Given the description of an element on the screen output the (x, y) to click on. 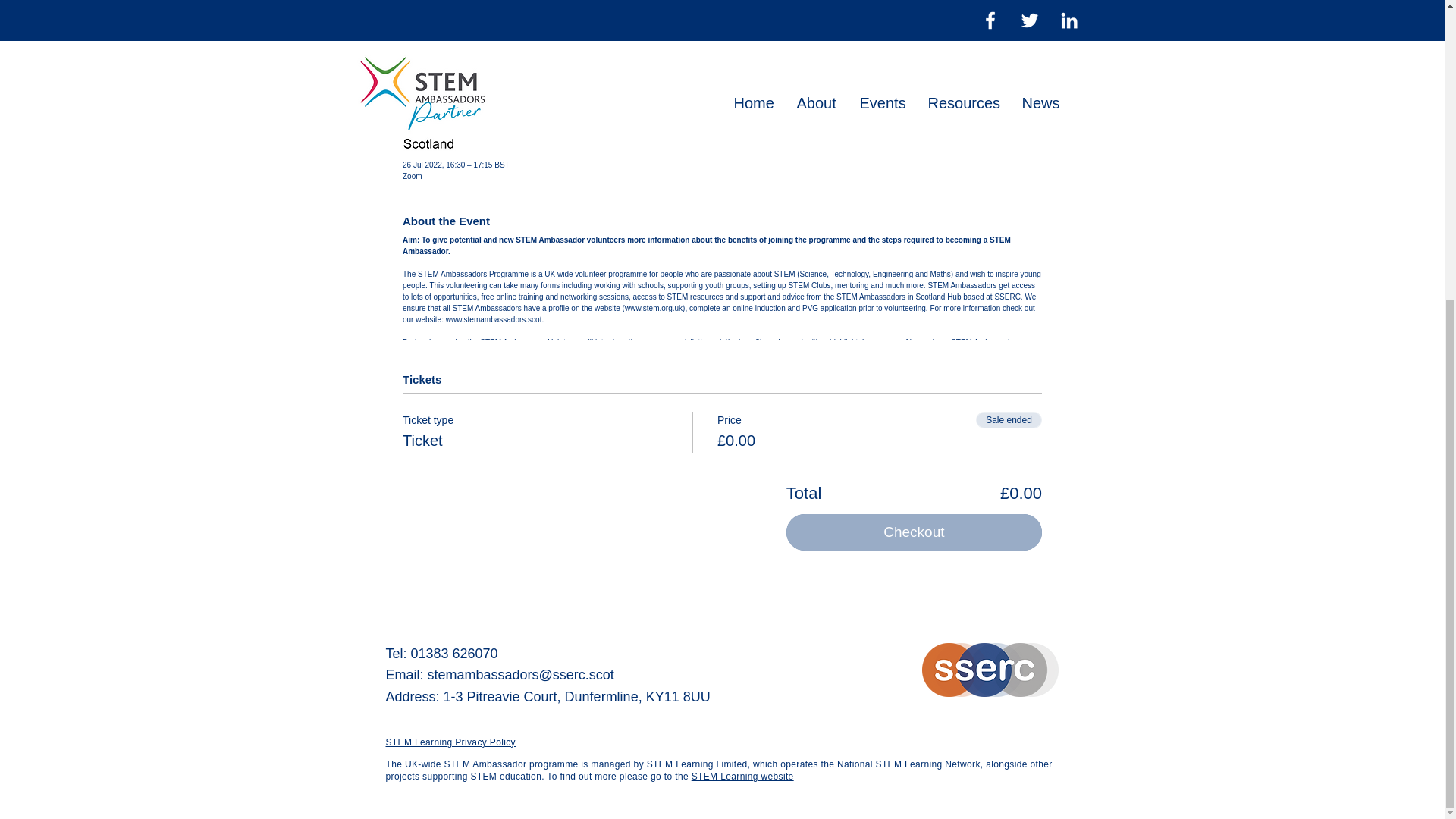
www.stemambassadors.scot (493, 318)
Checkout (914, 531)
www.stem.org.uk (653, 307)
